Given the description of an element on the screen output the (x, y) to click on. 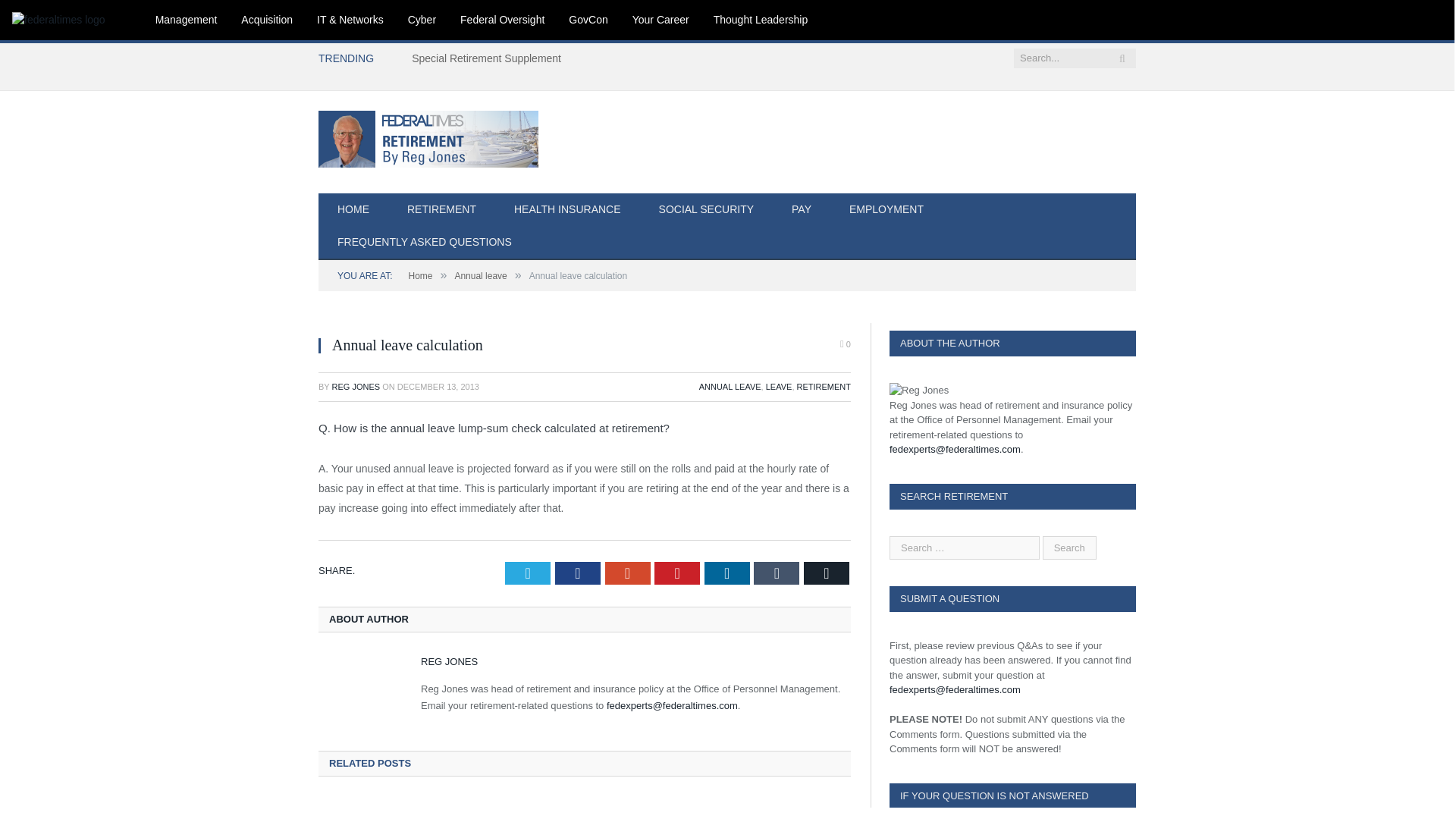
Special Retirement Supplement (490, 58)
Search (1069, 546)
Pinterest (676, 572)
Retirement and health benefits (399, 808)
PAY (801, 210)
EMPLOYMENT (885, 210)
Acquisition (266, 19)
RETIREMENT (823, 386)
2013-12-13 (438, 386)
Cyber (422, 19)
Facebook (576, 572)
SOCIAL SECURITY (706, 210)
Thought Leadership (761, 19)
Special Retirement Supplement (490, 58)
Annual leave (480, 276)
